Given the description of an element on the screen output the (x, y) to click on. 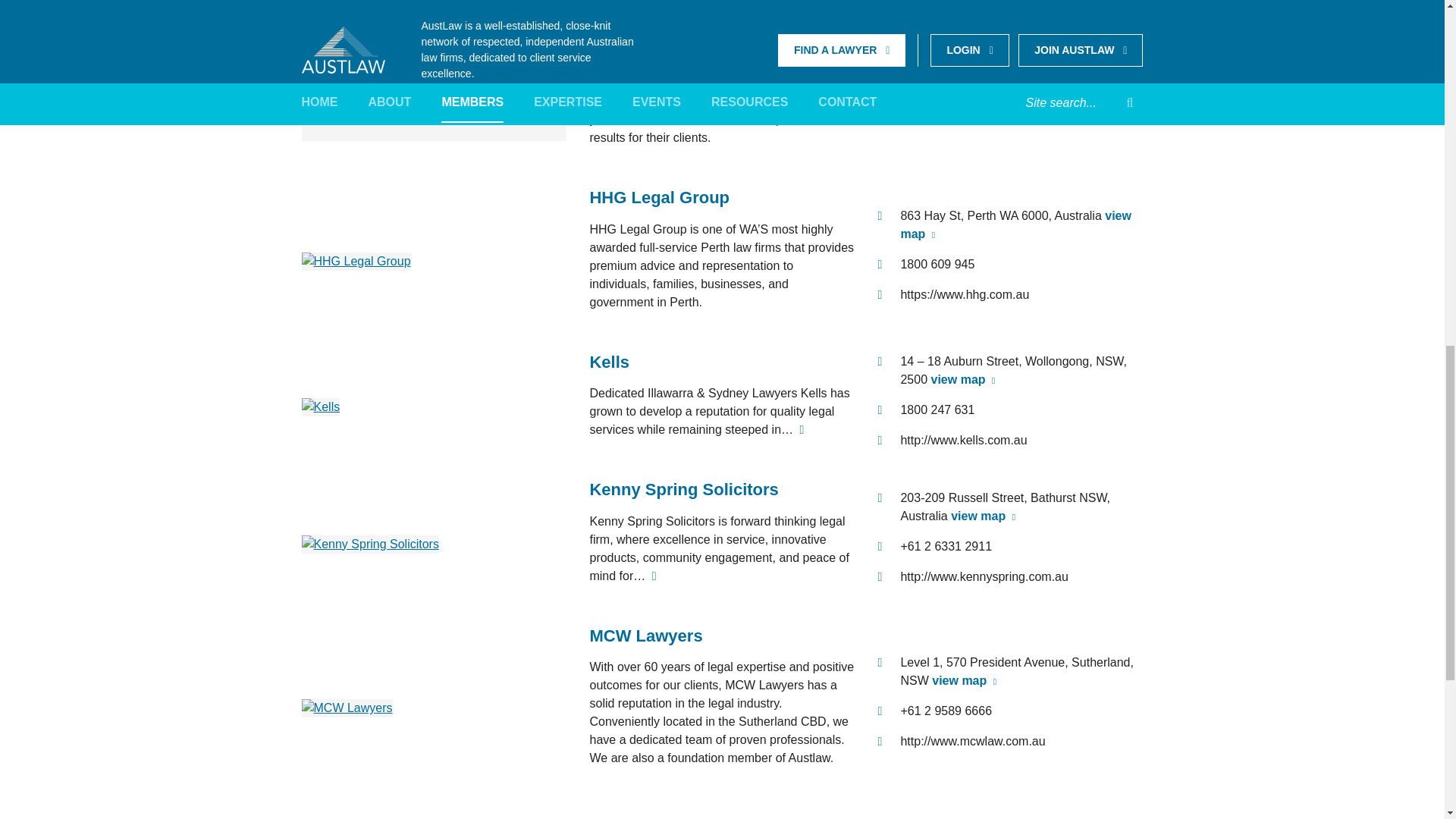
1800 247 631 (936, 409)
HHG Legal Group (355, 259)
MCW Lawyers (645, 635)
Kells (608, 361)
02 8566 2400 (936, 72)
1800 609 945 (936, 264)
view map (963, 379)
view map (982, 42)
Kenny Spring Solicitors (683, 488)
Kells (320, 406)
